Given the description of an element on the screen output the (x, y) to click on. 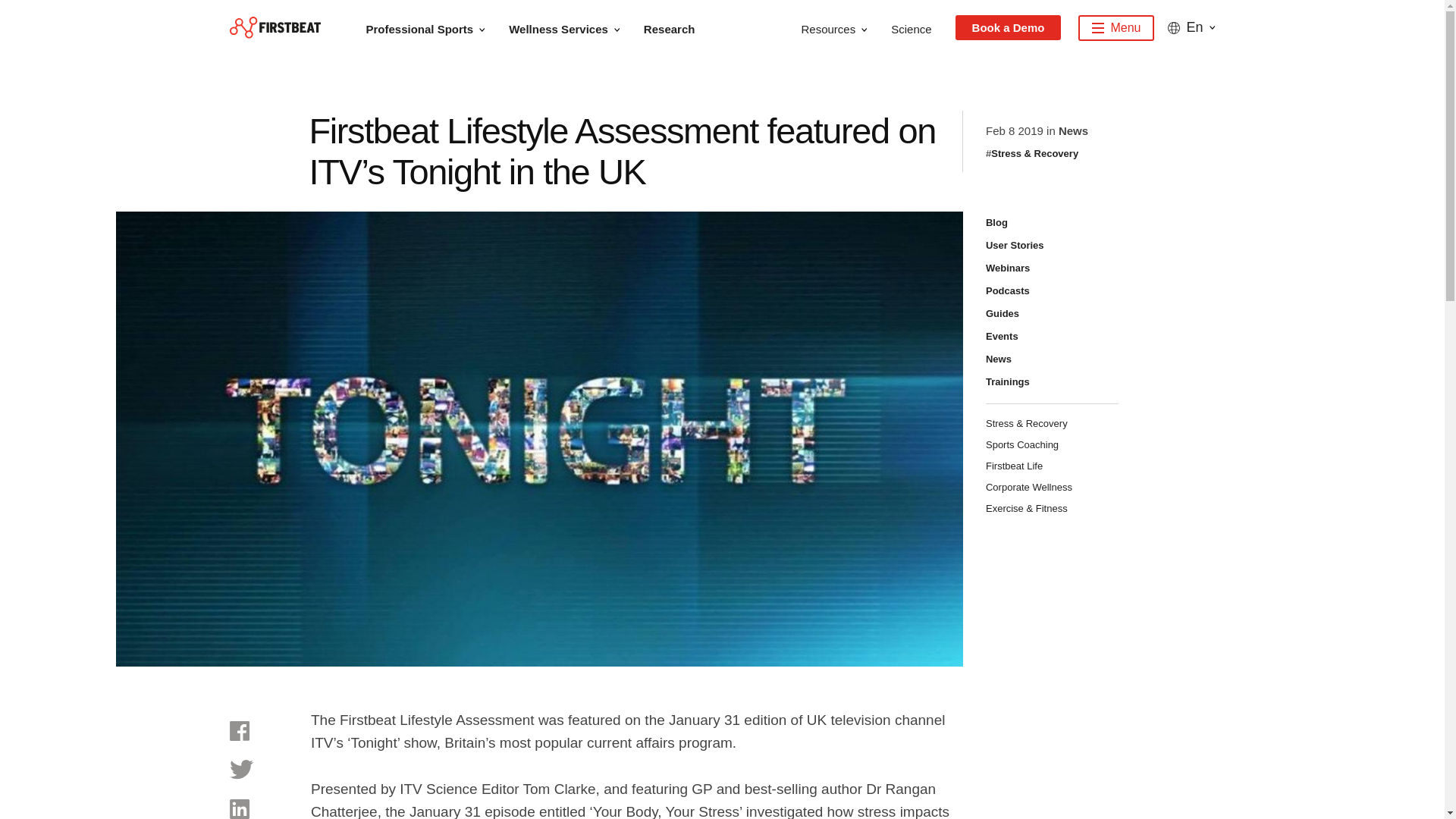
Wellness Services (572, 27)
Professional Sports (432, 27)
News (1072, 130)
Book a Demo (1008, 27)
En (1190, 27)
Firstbeat (274, 27)
Menu (1116, 27)
Research (677, 27)
Science (919, 27)
Resources (841, 27)
